Given the description of an element on the screen output the (x, y) to click on. 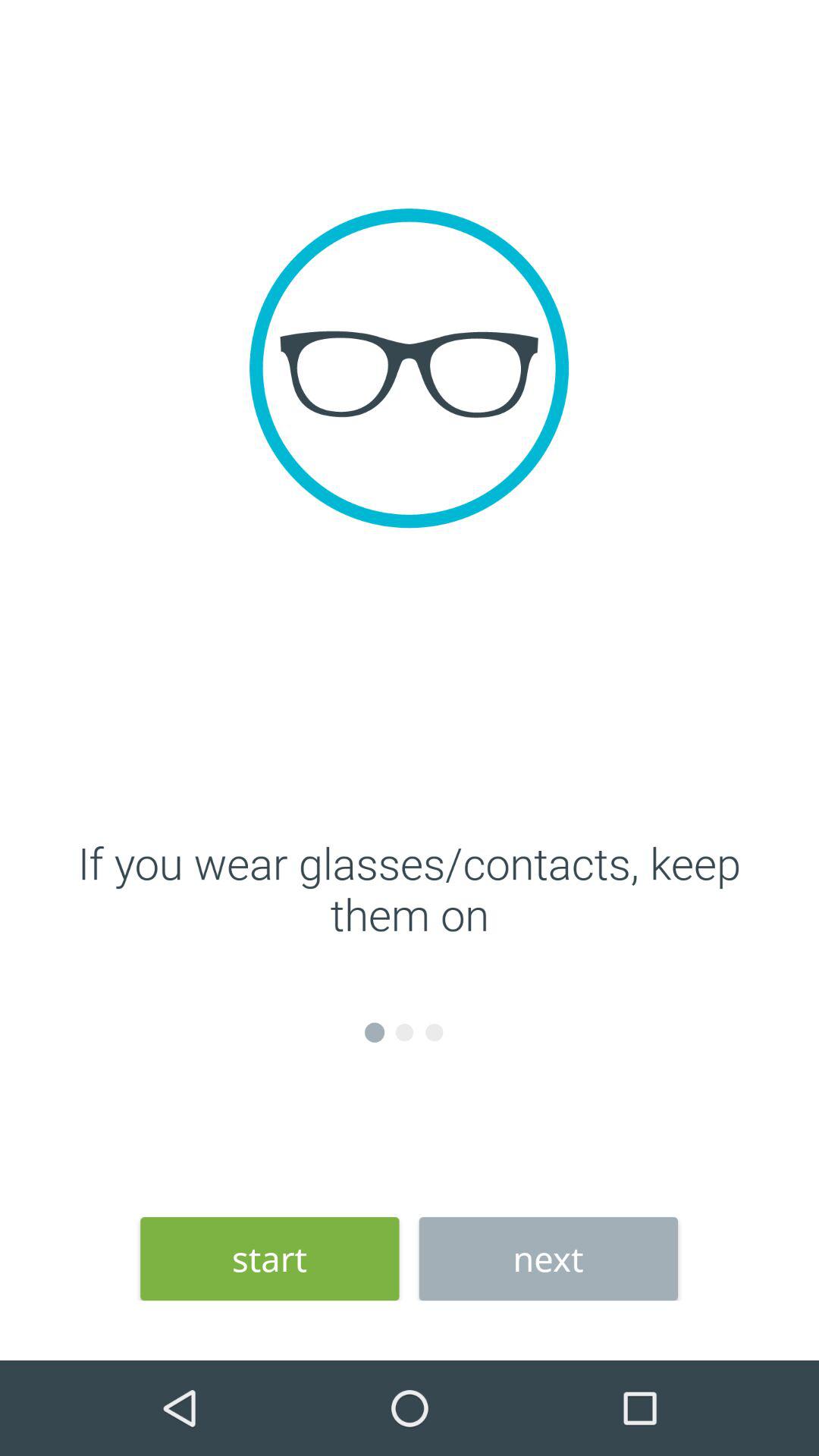
select the next (548, 1258)
